Given the description of an element on the screen output the (x, y) to click on. 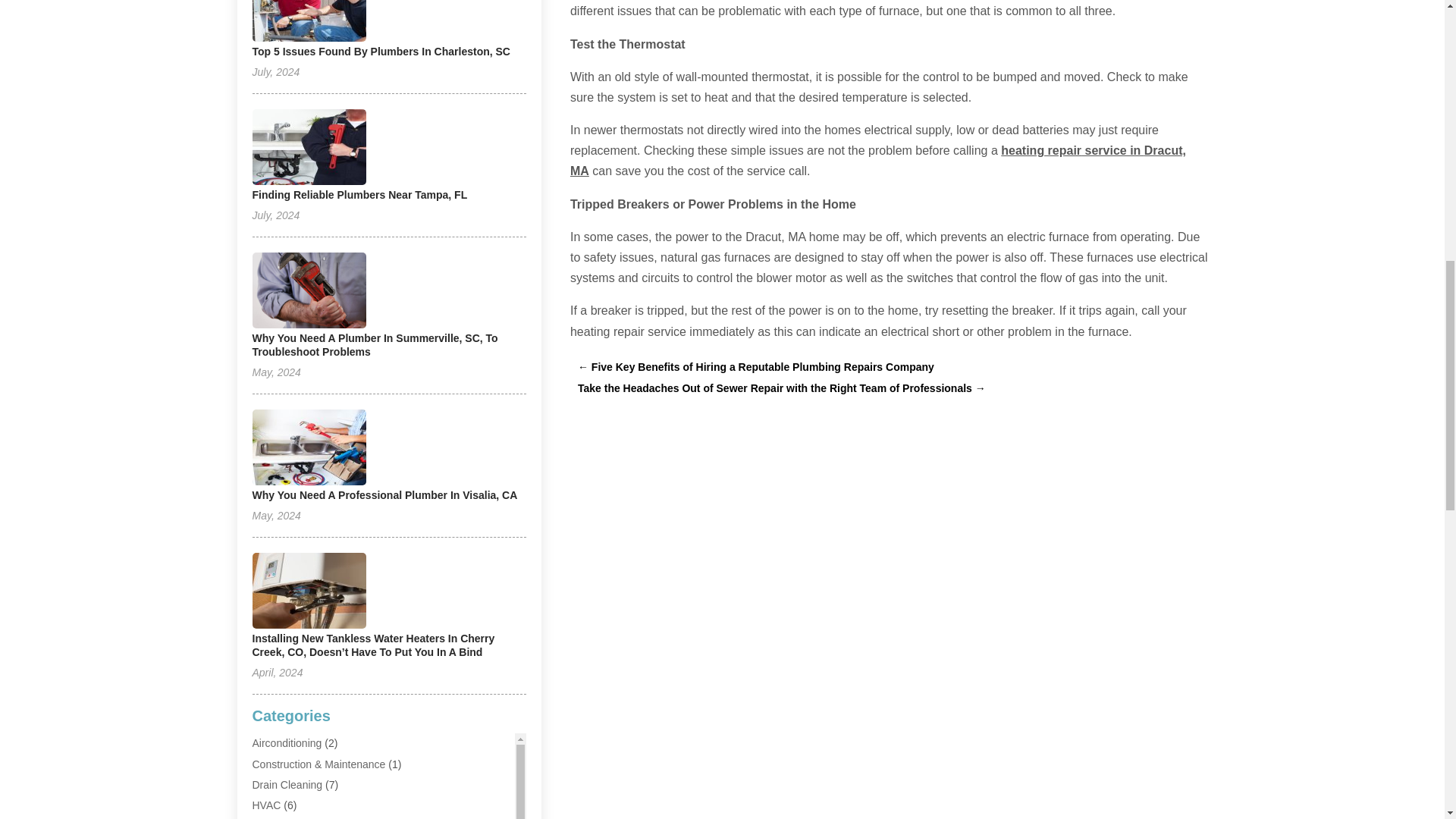
Finding Reliable Plumbers Near Tampa, FL (359, 194)
Airconditioning (286, 743)
HVAC (266, 805)
Drain Cleaning (286, 784)
Top 5 Issues Found By Plumbers In Charleston, SC (380, 51)
Why You Need A Professional Plumber In Visalia, CA (383, 494)
